Given the description of an element on the screen output the (x, y) to click on. 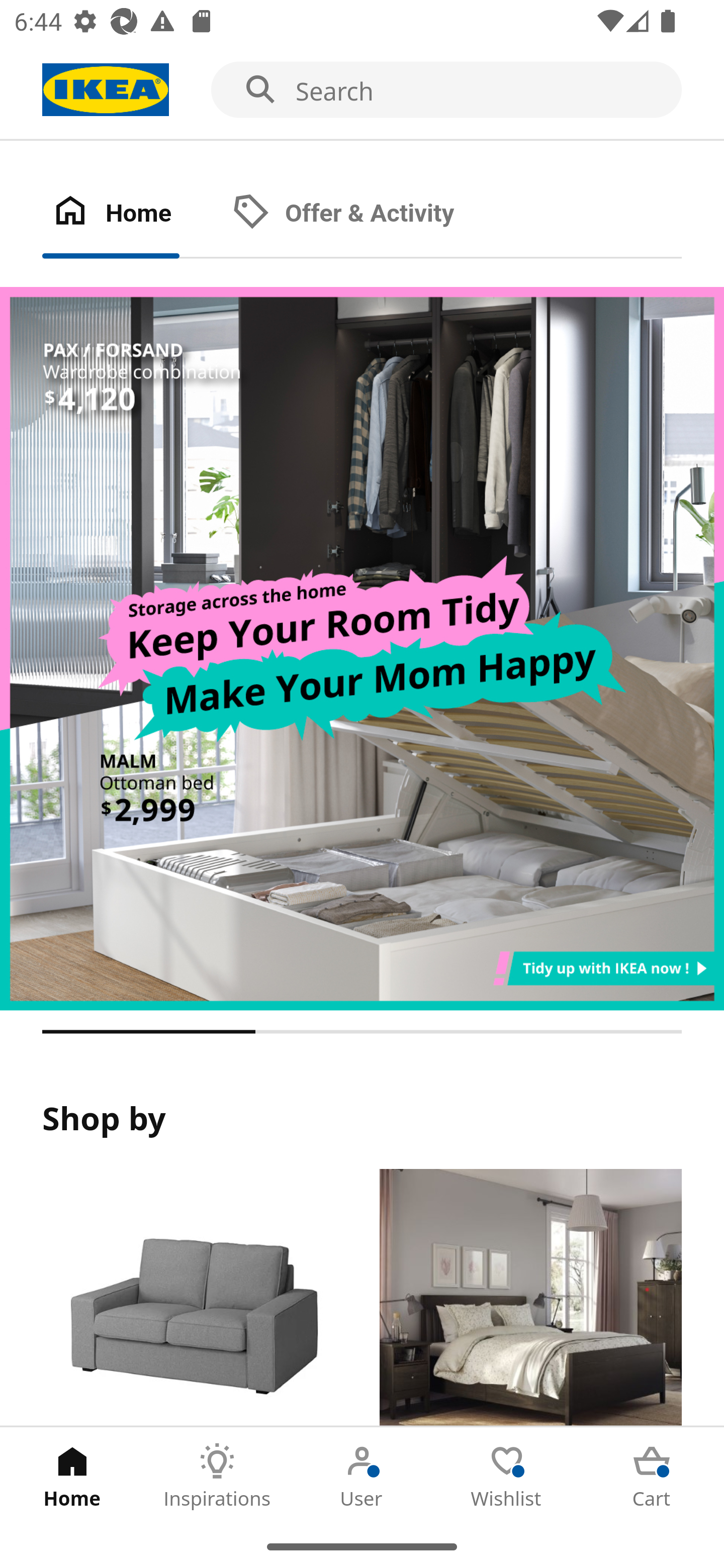
Search (361, 90)
Home
Tab 1 of 2 (131, 213)
Offer & Activity
Tab 2 of 2 (363, 213)
Products (192, 1297)
Rooms (530, 1297)
Home
Tab 1 of 5 (72, 1476)
Inspirations
Tab 2 of 5 (216, 1476)
User
Tab 3 of 5 (361, 1476)
Wishlist
Tab 4 of 5 (506, 1476)
Cart
Tab 5 of 5 (651, 1476)
